Given the description of an element on the screen output the (x, y) to click on. 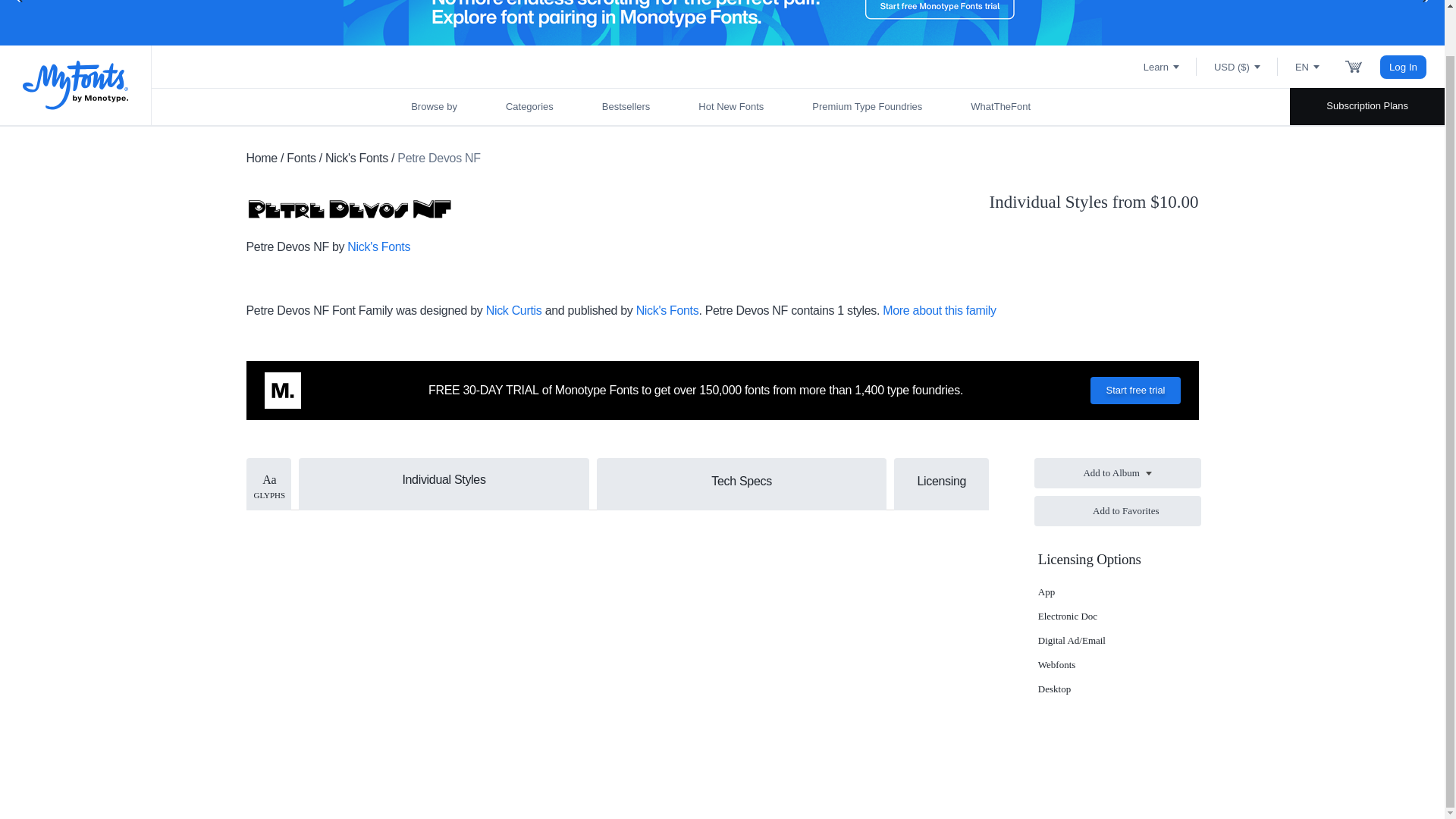
Individual Styles (443, 477)
Licensing (940, 480)
Tech Specs (741, 480)
Log In (1403, 65)
MyFonts (75, 85)
Skip to content (72, 2)
